Given the description of an element on the screen output the (x, y) to click on. 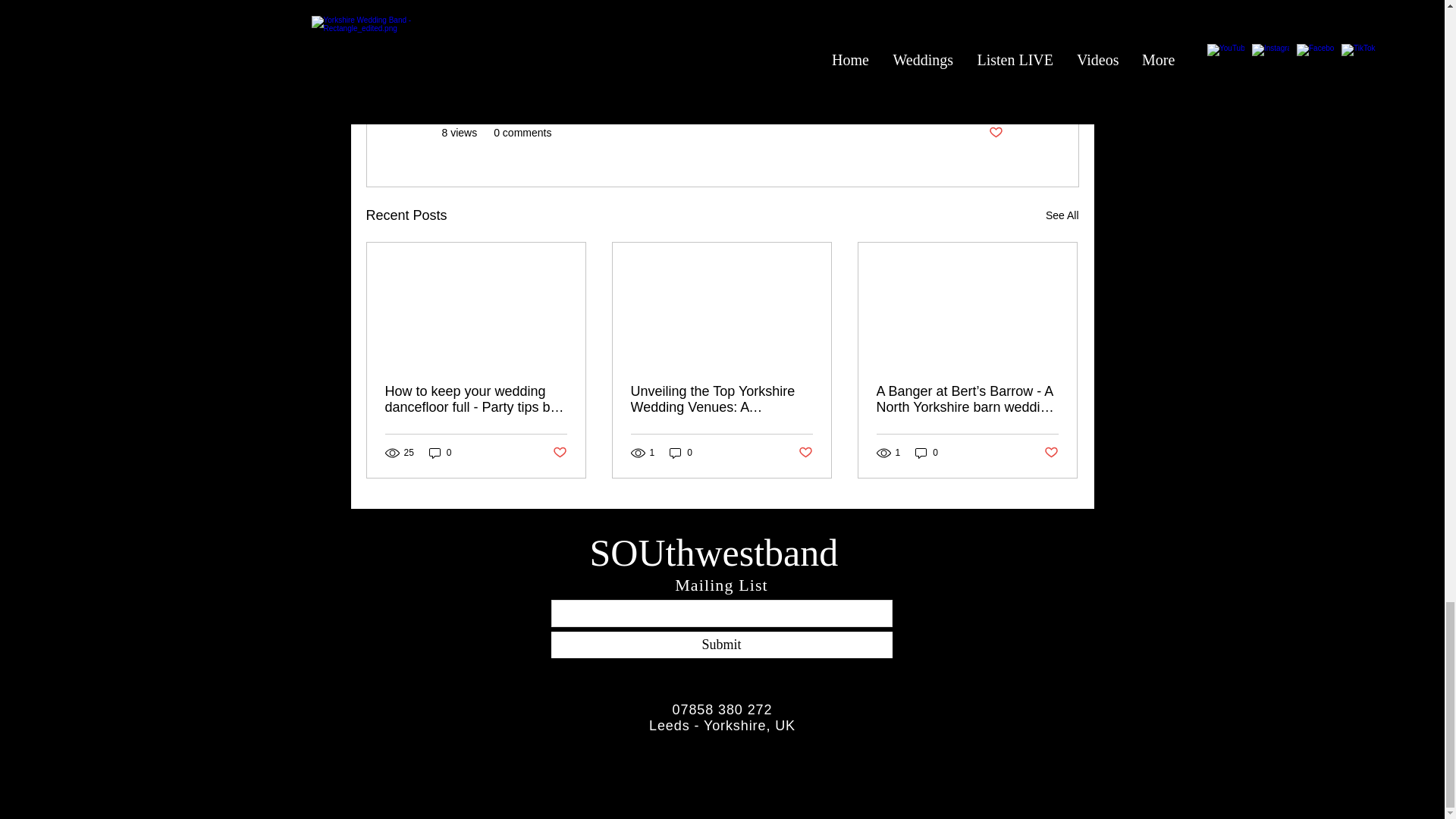
See All (1061, 215)
Post not marked as liked (558, 452)
Post not marked as liked (804, 452)
0 (440, 452)
0 (681, 452)
0 (926, 452)
Submit (720, 644)
Post not marked as liked (995, 132)
Post not marked as liked (1050, 452)
